Given the description of an element on the screen output the (x, y) to click on. 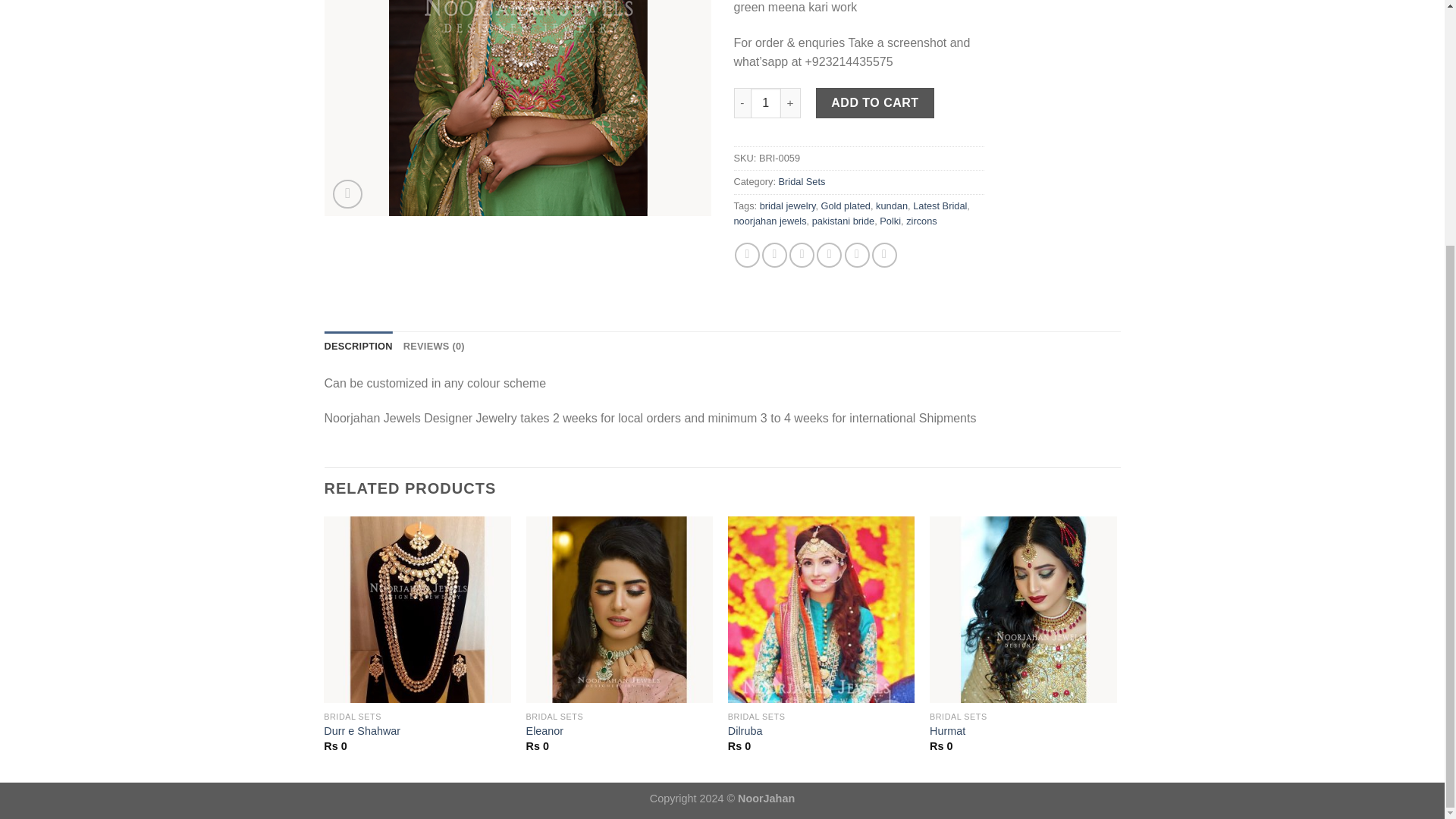
Qty (765, 102)
BRI-0059 (517, 108)
1 (765, 102)
